Given the description of an element on the screen output the (x, y) to click on. 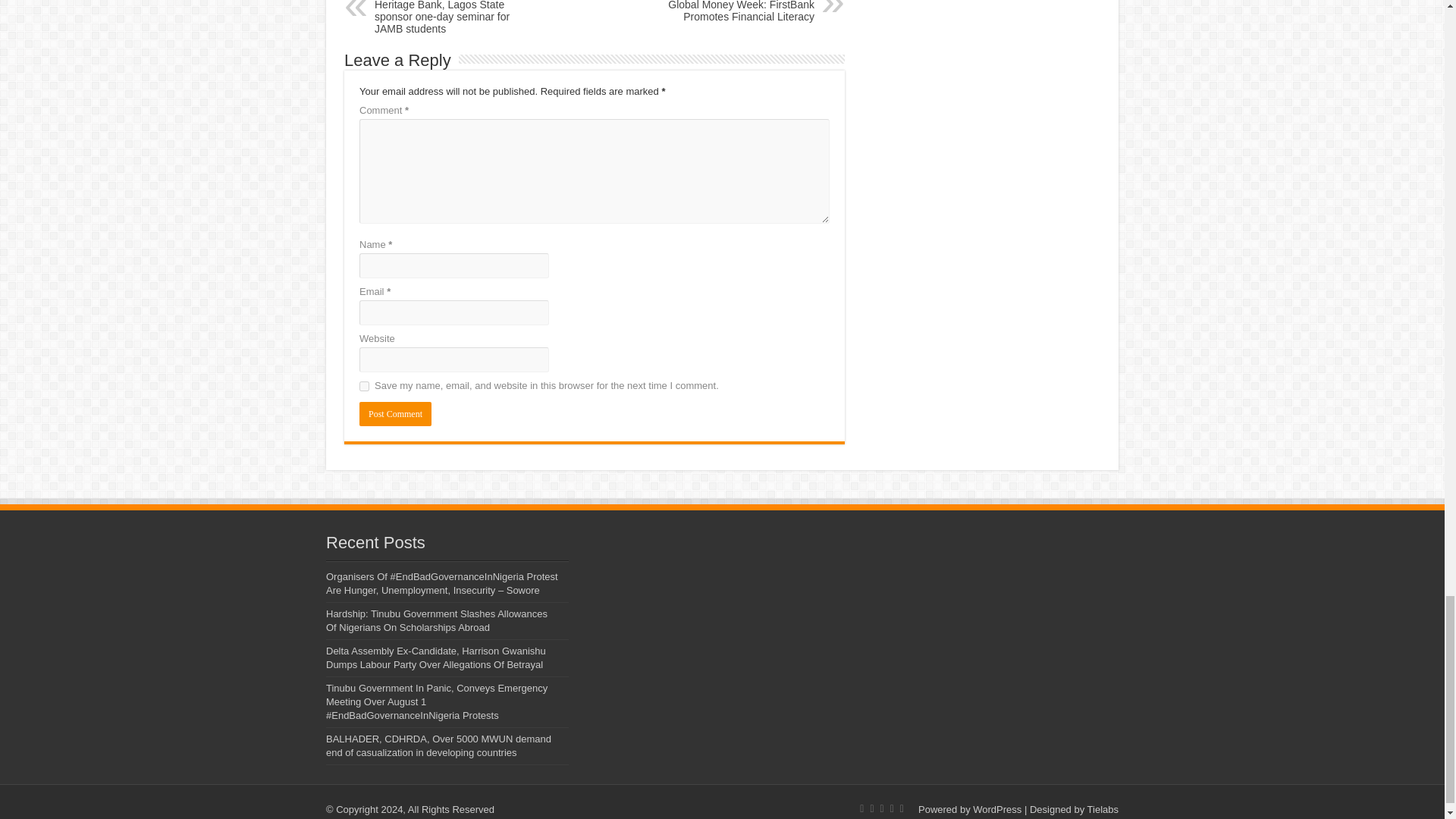
yes (364, 386)
Post Comment (394, 413)
